Given the description of an element on the screen output the (x, y) to click on. 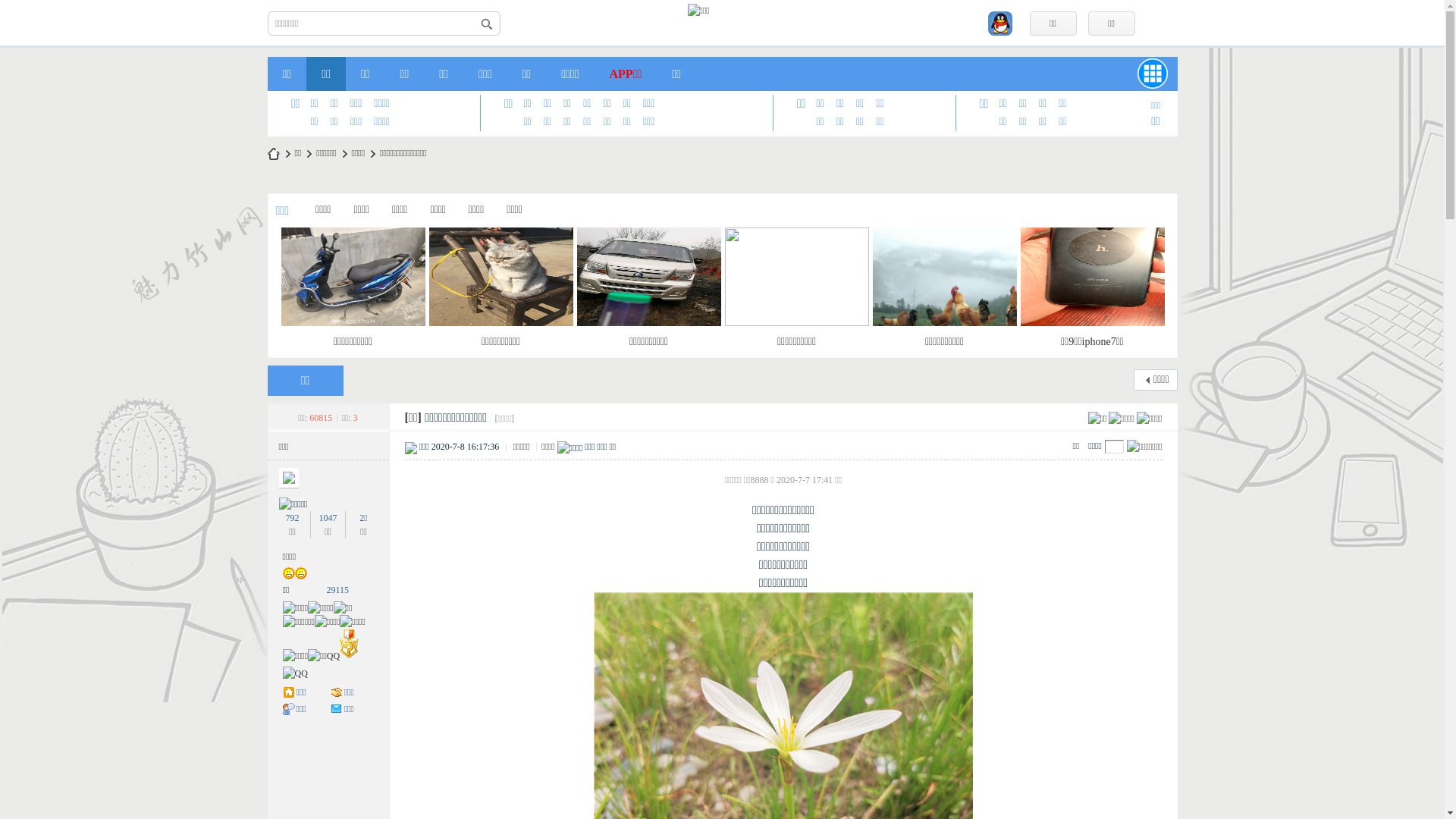
792 Element type: text (292, 517)
29115 Element type: text (337, 589)
1047 Element type: text (327, 517)
   Element type: text (486, 23)
